Given the description of an element on the screen output the (x, y) to click on. 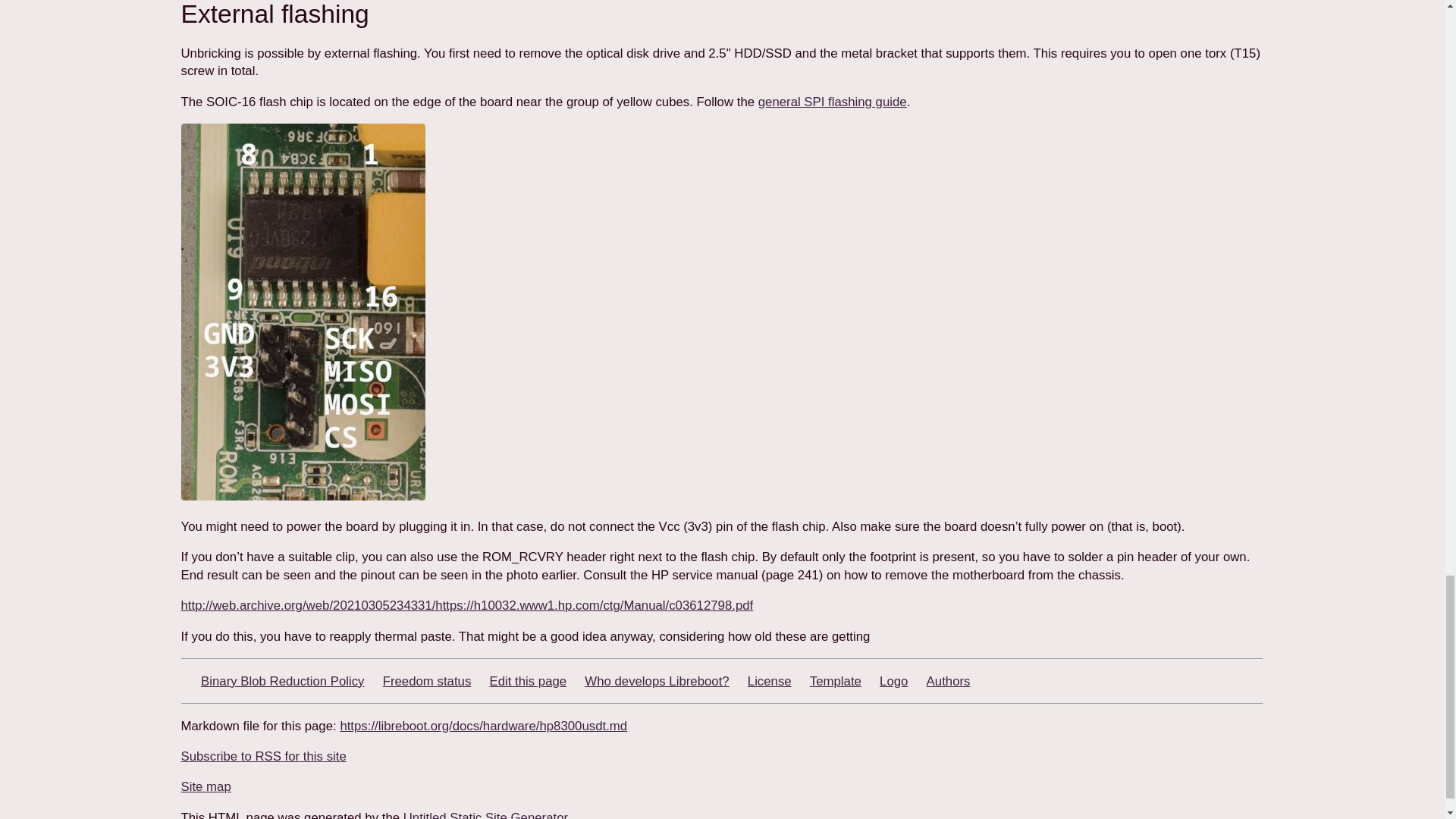
Logo (893, 681)
general SPI flashing guide (832, 101)
Freedom status (426, 681)
Site map (205, 786)
Edit this page (527, 681)
License (770, 681)
Authors (948, 681)
Template (835, 681)
Subscribe to RSS for this site (263, 756)
Binary Blob Reduction Policy (282, 681)
Who develops Libreboot? (657, 681)
